Given the description of an element on the screen output the (x, y) to click on. 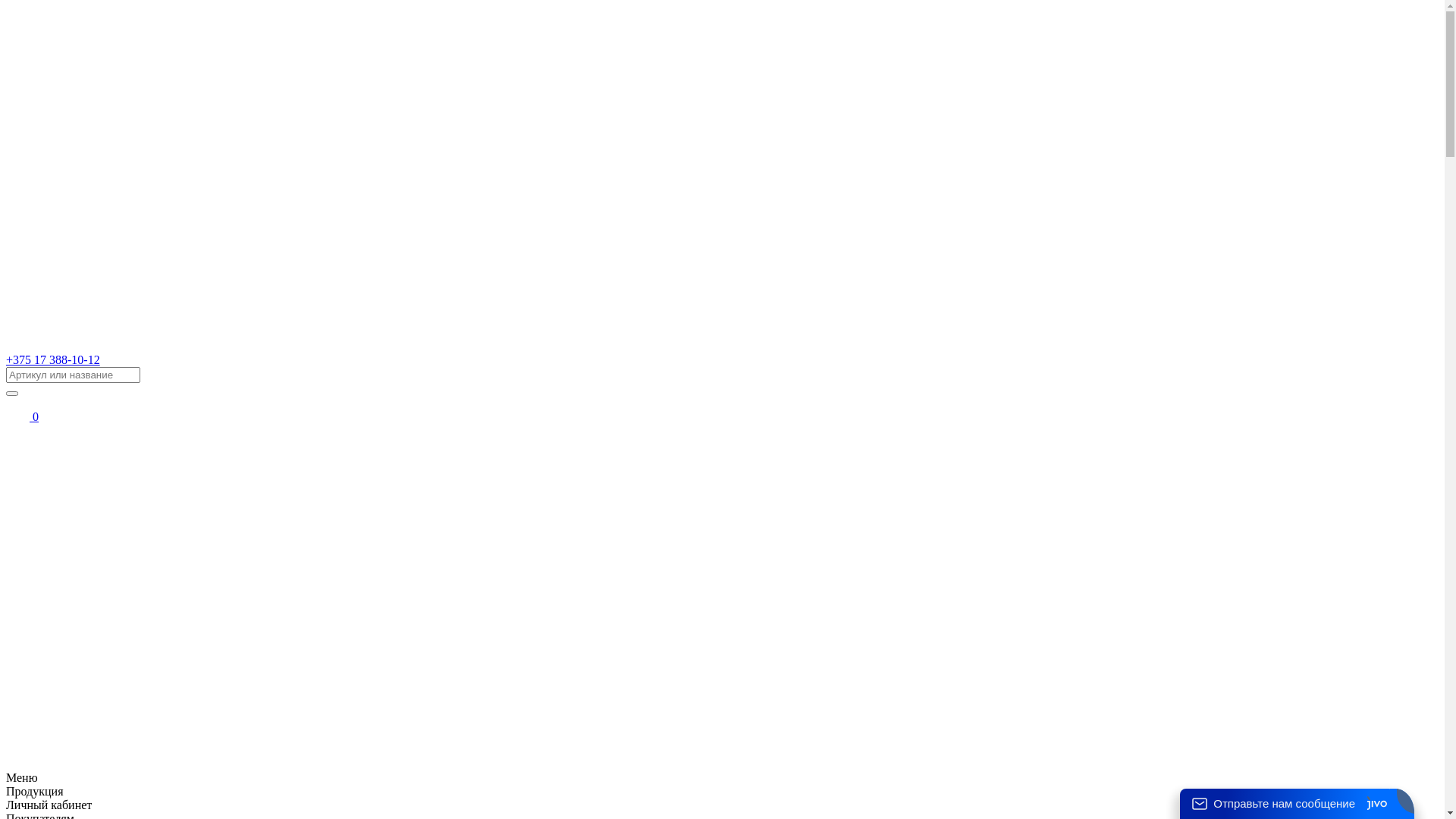
0 Element type: text (22, 416)
+375 17 388-10-12 Element type: text (53, 359)
